Given the description of an element on the screen output the (x, y) to click on. 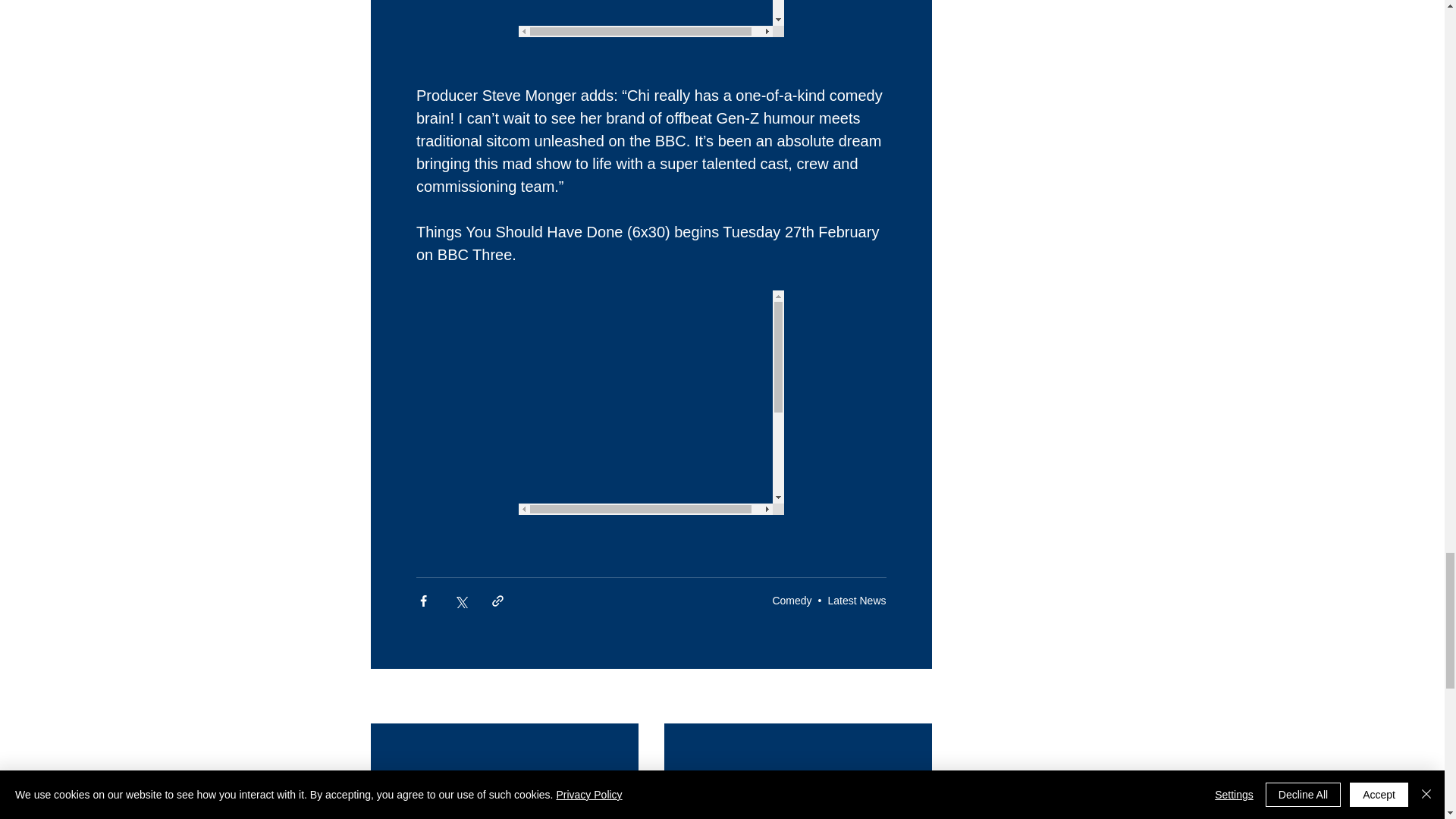
Comedy (790, 600)
remote content (651, 18)
remote content (651, 402)
See All (914, 697)
Latest News (856, 600)
